Given the description of an element on the screen output the (x, y) to click on. 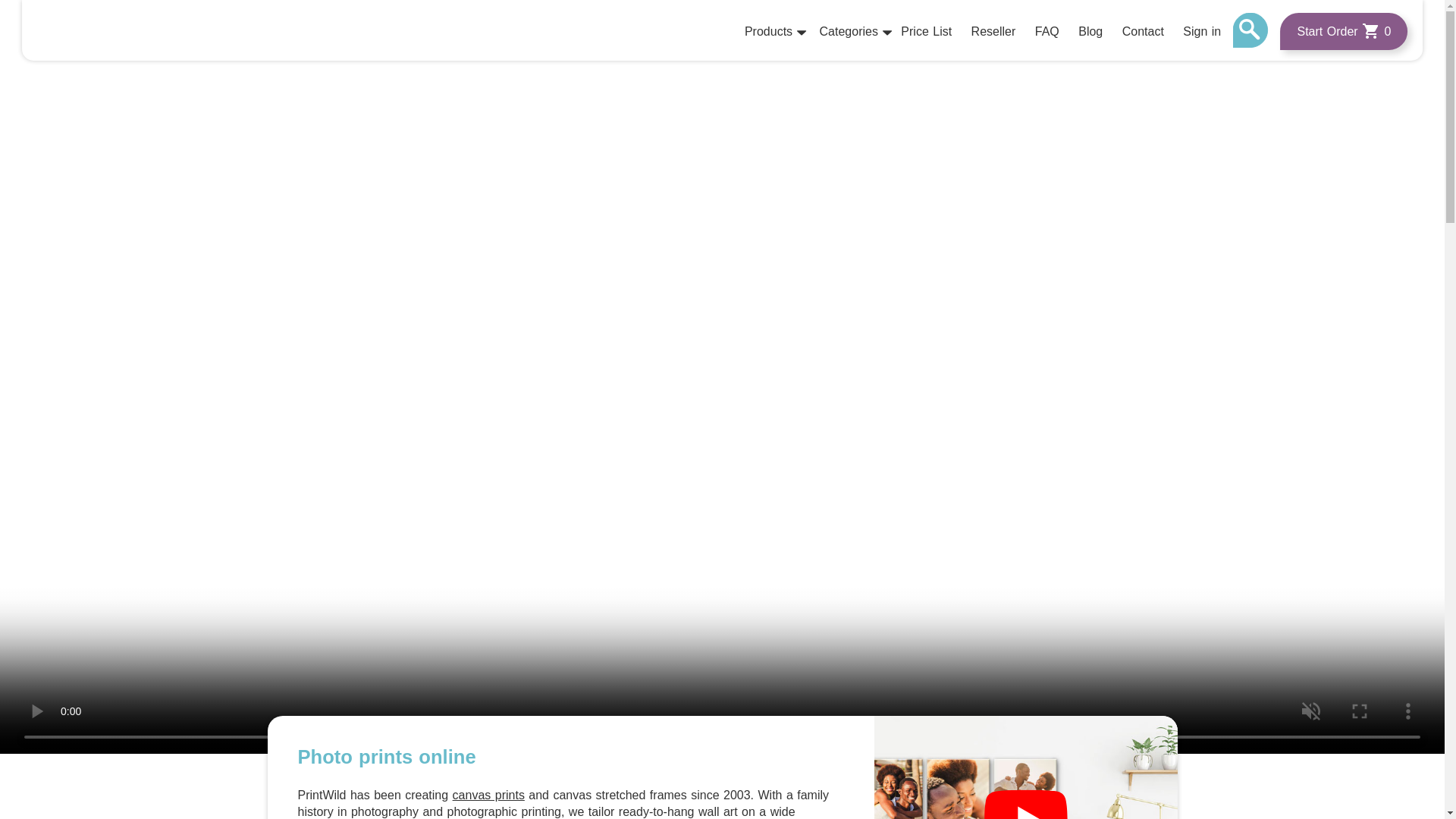
Categories (848, 31)
Canvas prints and photo printing delivered nationwide (101, 30)
Products (768, 31)
Canvas prints and photo printing delivered nationwide (101, 30)
